Given the description of an element on the screen output the (x, y) to click on. 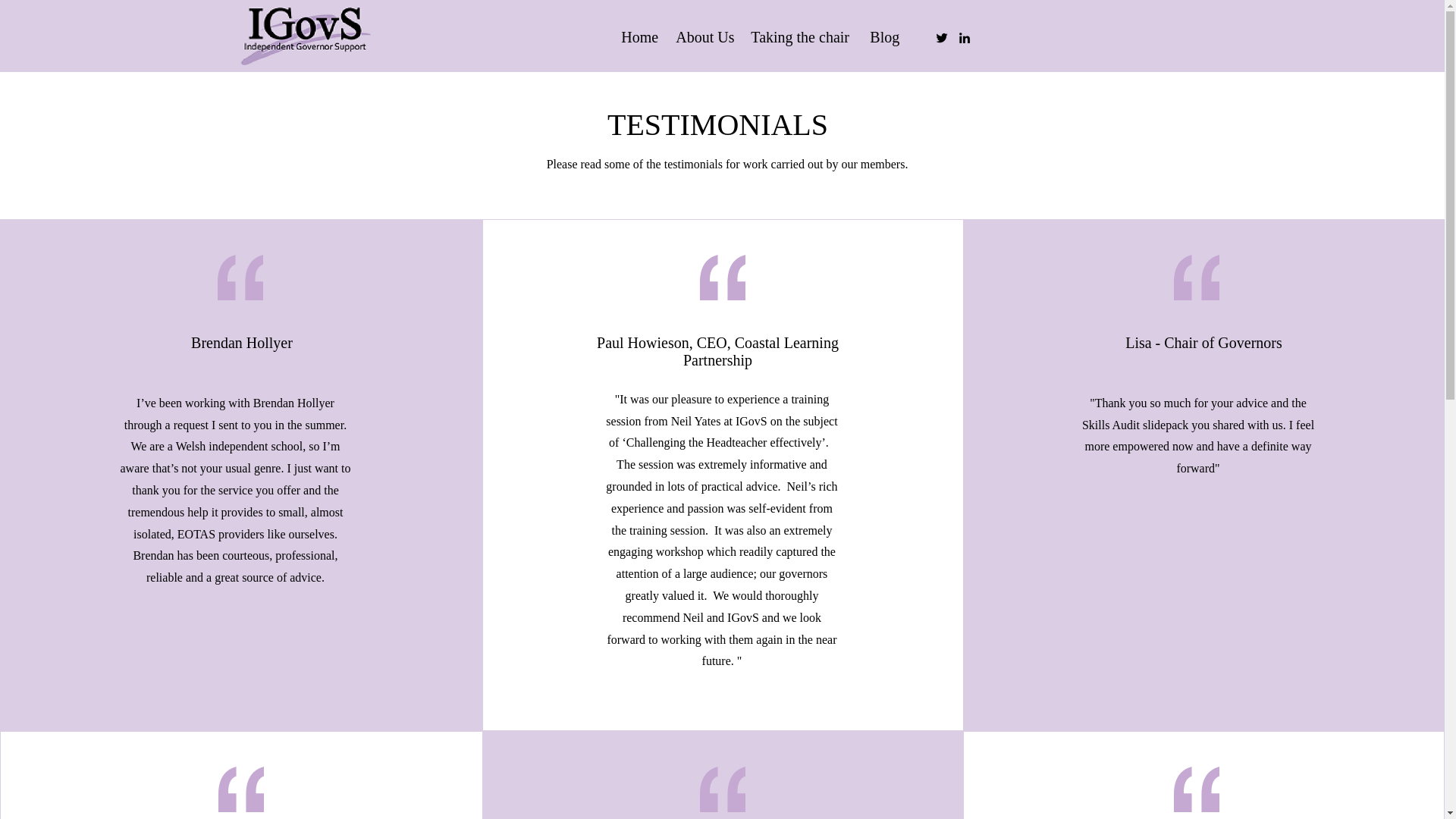
Home (640, 35)
Blog (884, 35)
